Given the description of an element on the screen output the (x, y) to click on. 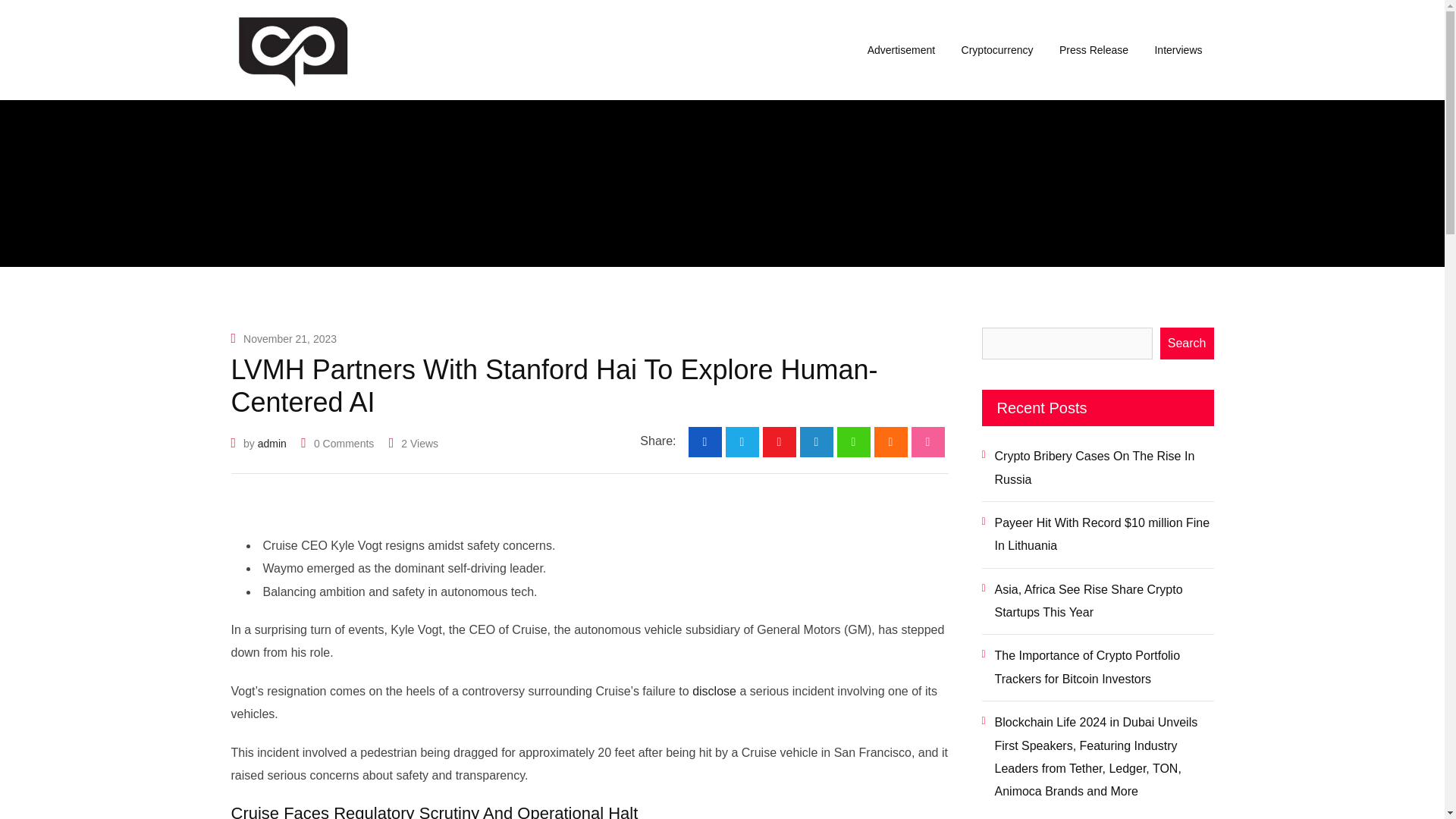
Whatsapp (853, 441)
Cryptocurrency (997, 49)
Cloud (890, 441)
Search (1187, 343)
admin (271, 443)
disclose (714, 690)
Asia, Africa See Rise Share Crypto Startups This Year (1096, 601)
Advertisement (901, 49)
Posts by admin (271, 443)
LinkedIn (815, 441)
Interviews (1177, 49)
Crypto Bribery Cases On The Rise In Russia (1096, 468)
Youtube (779, 441)
Press Release (1094, 49)
